Given the description of an element on the screen output the (x, y) to click on. 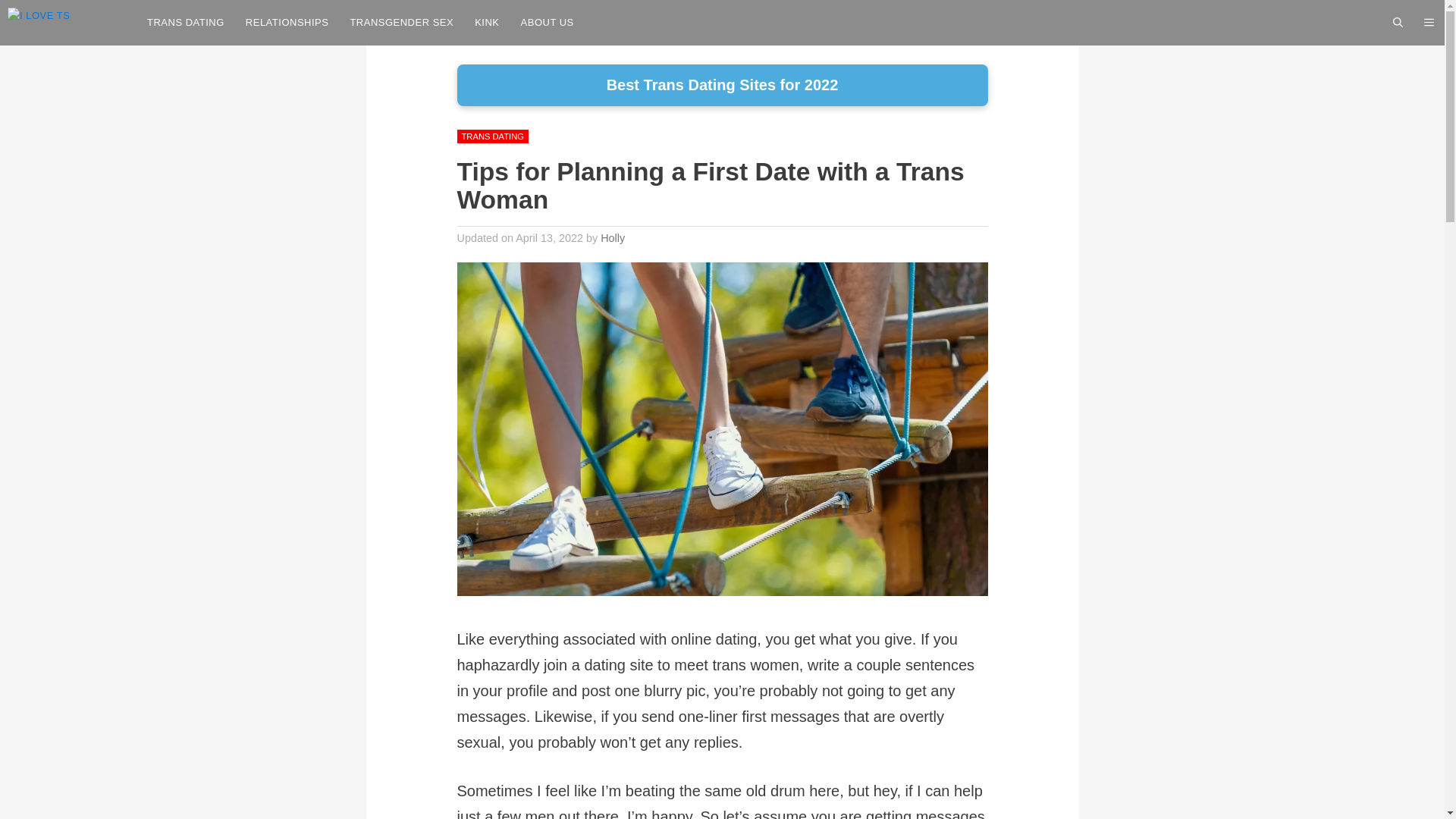
TRANS DATING (185, 22)
ABOUT US (548, 22)
KINK (486, 22)
Holly (611, 237)
RELATIONSHIPS (286, 22)
I Love TS (68, 22)
TRANSGENDER SEX (401, 22)
TRANS DATING (492, 136)
View all posts by Holly (611, 237)
Best Trans Dating Sites for 2022 (722, 85)
